Given the description of an element on the screen output the (x, y) to click on. 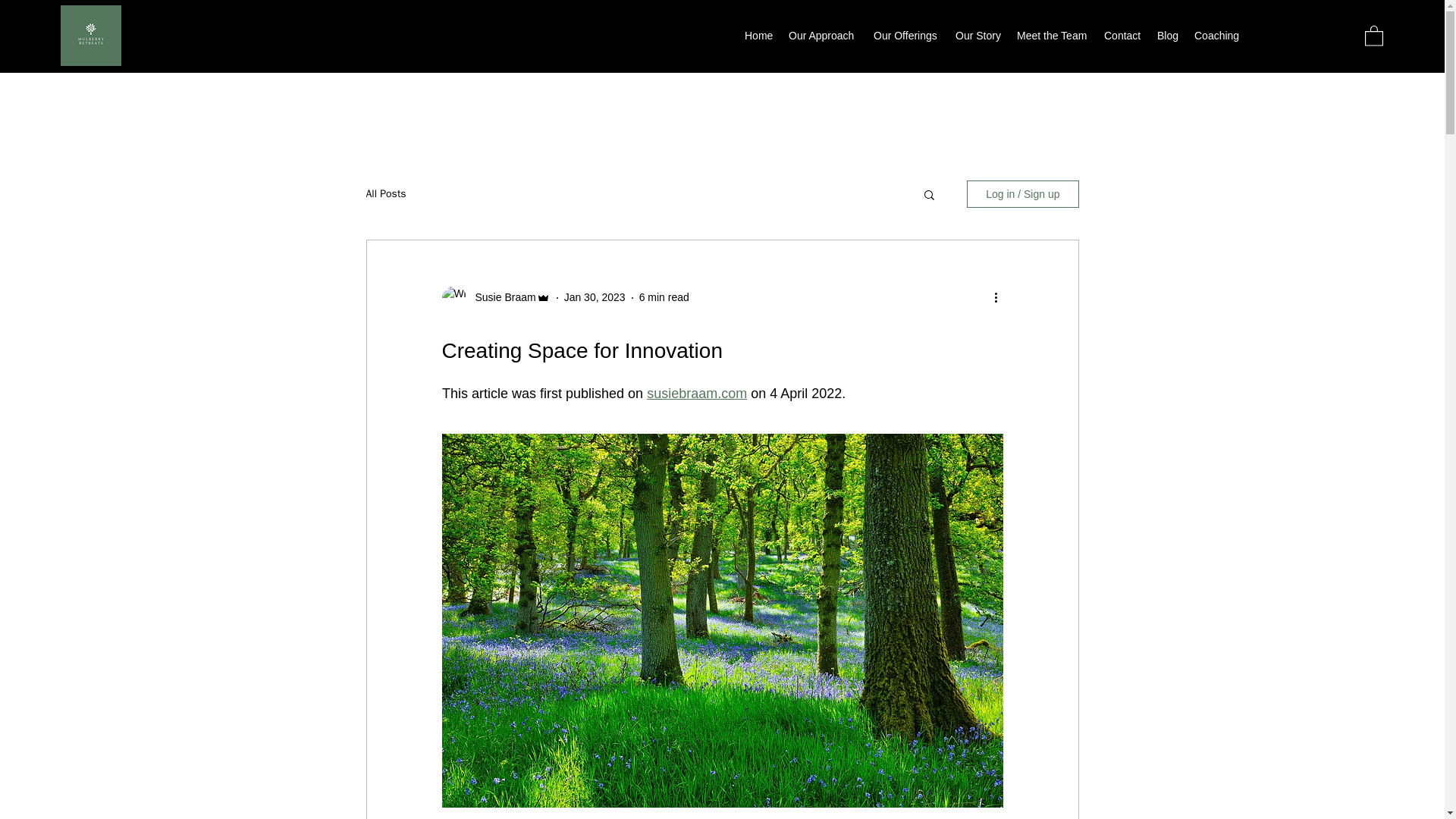
Blog (1168, 35)
Coaching (1216, 35)
All Posts (385, 193)
Jan 30, 2023 (595, 297)
Home (758, 35)
Our Story (978, 35)
Meet the Team (1052, 35)
Susie Braam (500, 297)
Contact (1123, 35)
Our Approach (823, 35)
6 min read (663, 297)
susiebraam.com (696, 393)
Our Offerings (906, 35)
